Given the description of an element on the screen output the (x, y) to click on. 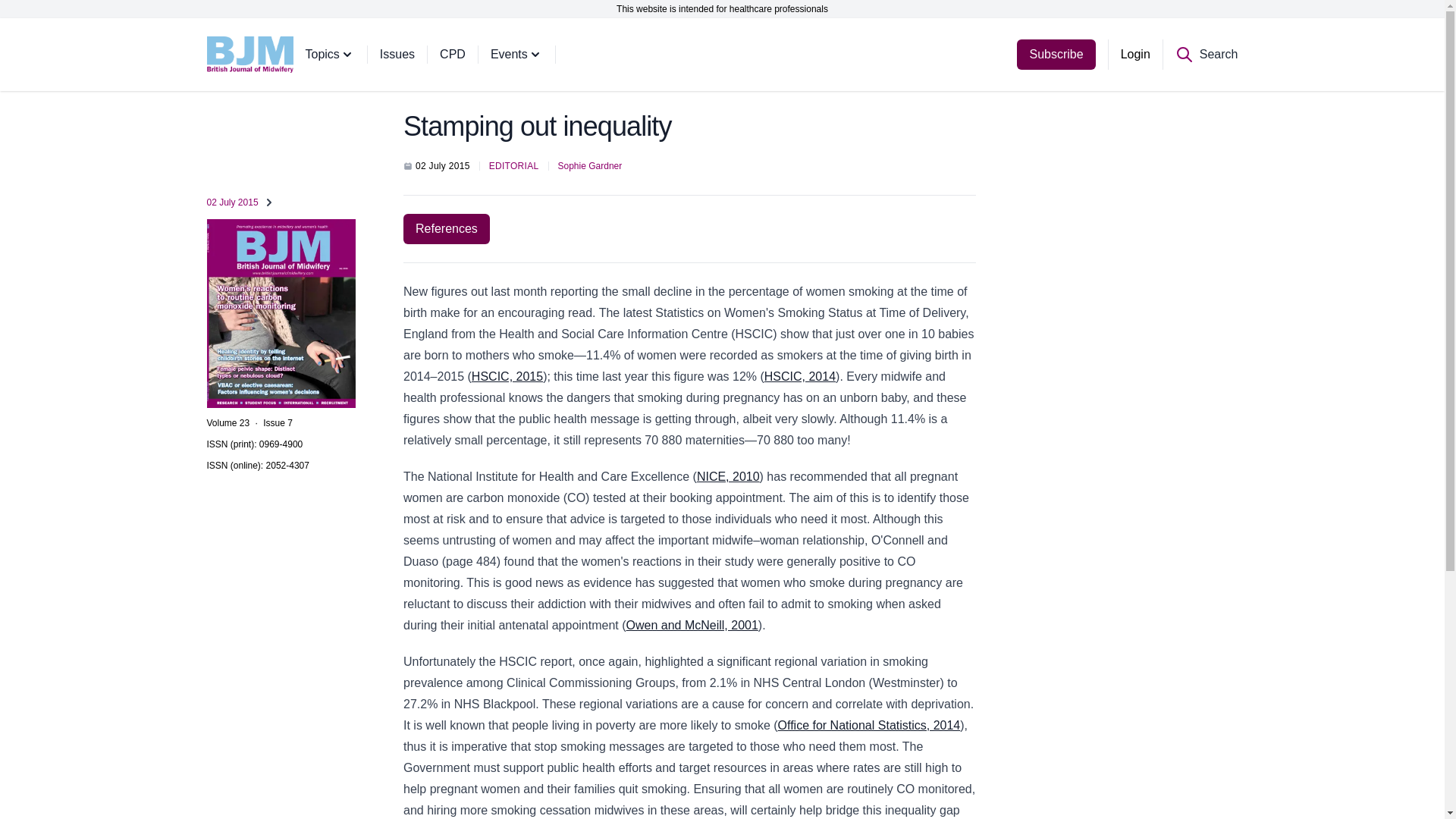
Topics (341, 54)
3rd party ad content (1116, 203)
Events (528, 54)
Search (1206, 54)
Issues (409, 54)
CPD (464, 54)
Subscribe (1055, 54)
Login (1134, 54)
